Given the description of an element on the screen output the (x, y) to click on. 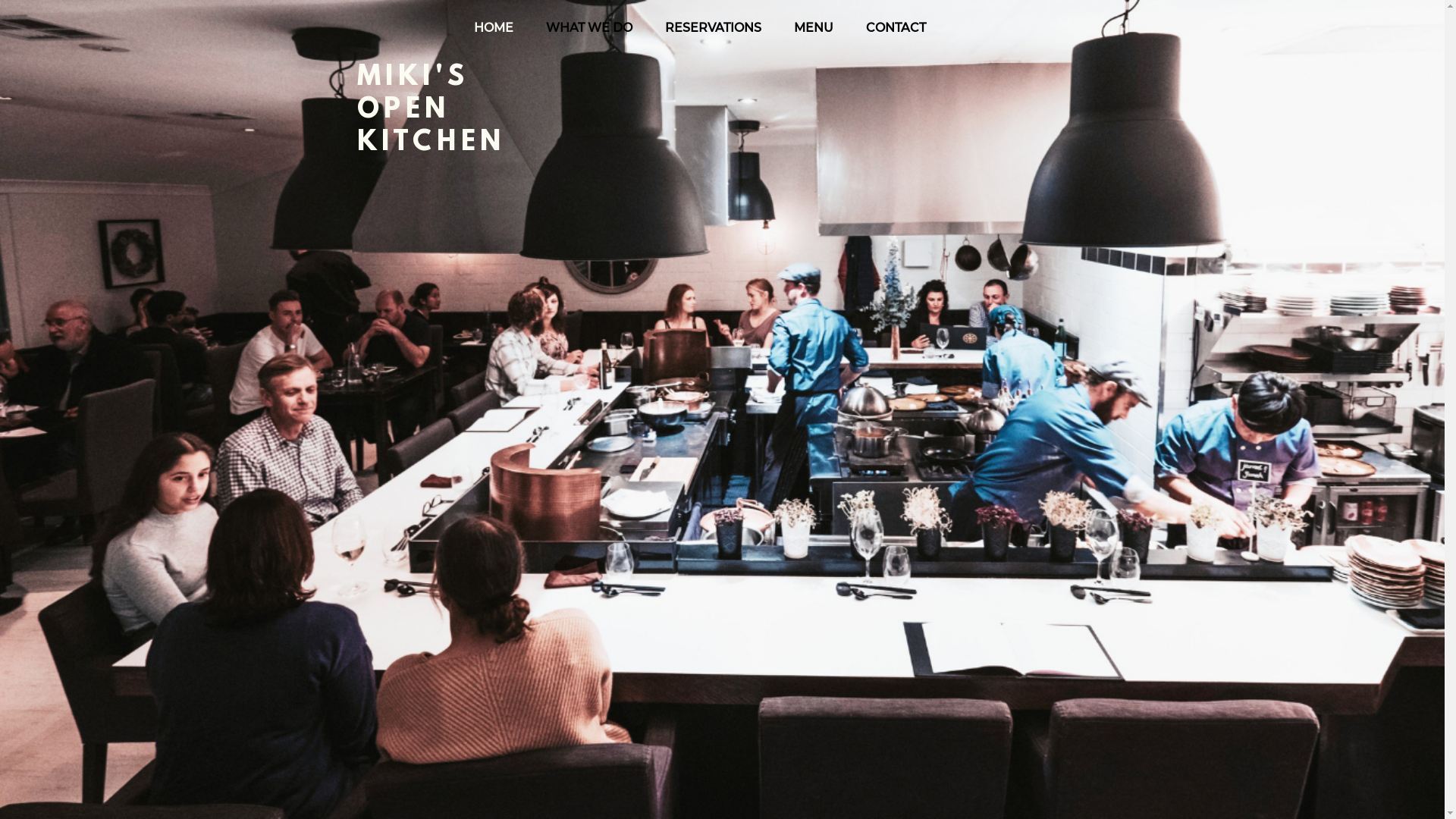
CONTACT Element type: text (895, 28)
MENU Element type: text (814, 28)
HOME Element type: text (492, 28)
WHAT WE DO Element type: text (588, 28)
RESERVATIONS Element type: text (713, 28)
